Given the description of an element on the screen output the (x, y) to click on. 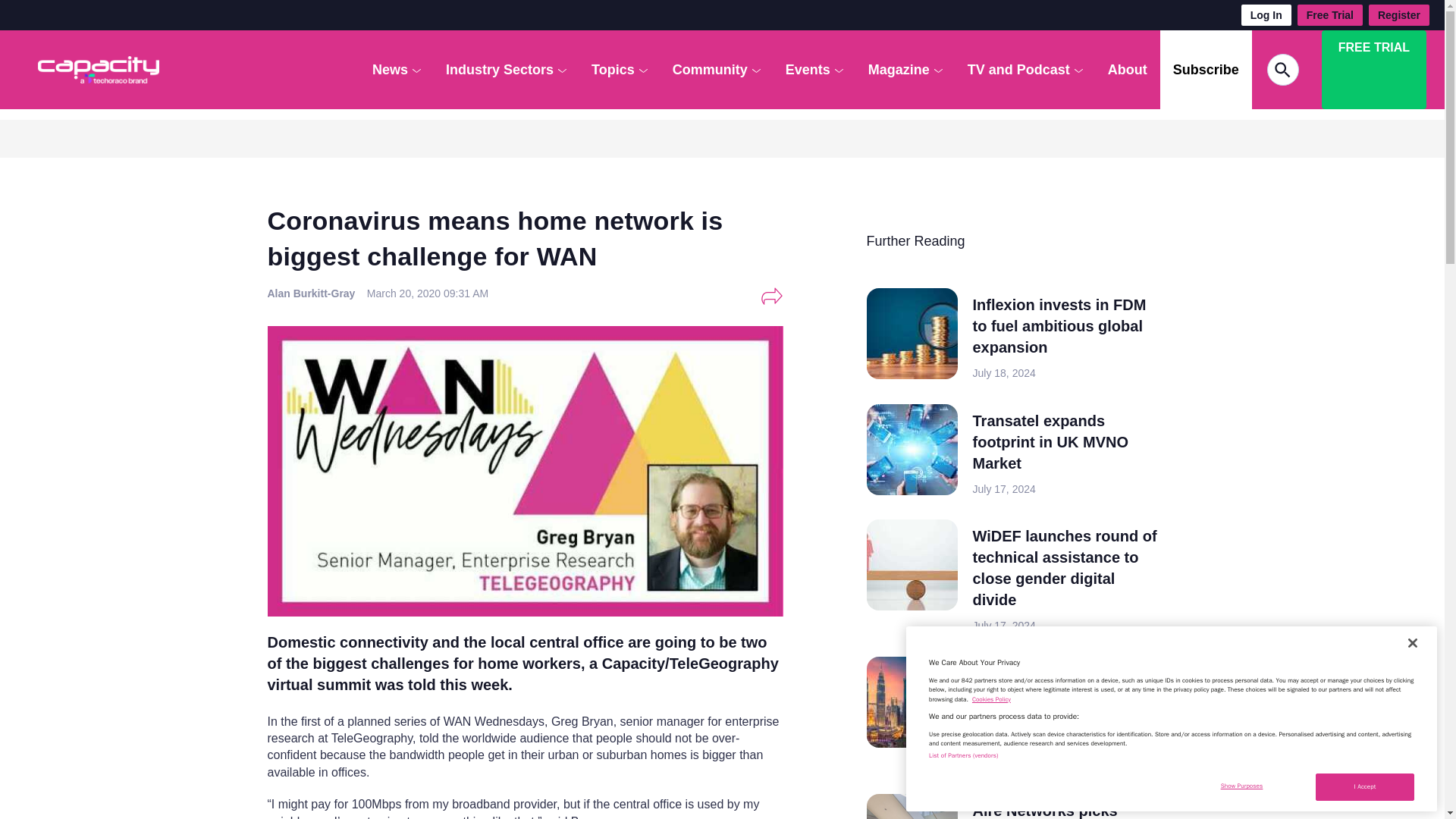
Log In (1266, 14)
Free Trial (1329, 14)
Register (1398, 14)
Share (771, 296)
